Given the description of an element on the screen output the (x, y) to click on. 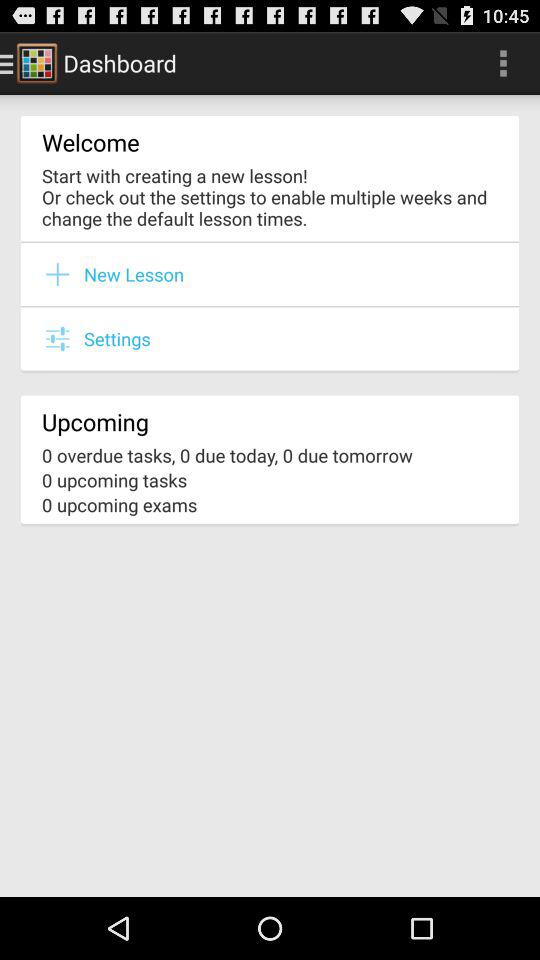
turn on the item at the top right corner (503, 62)
